Given the description of an element on the screen output the (x, y) to click on. 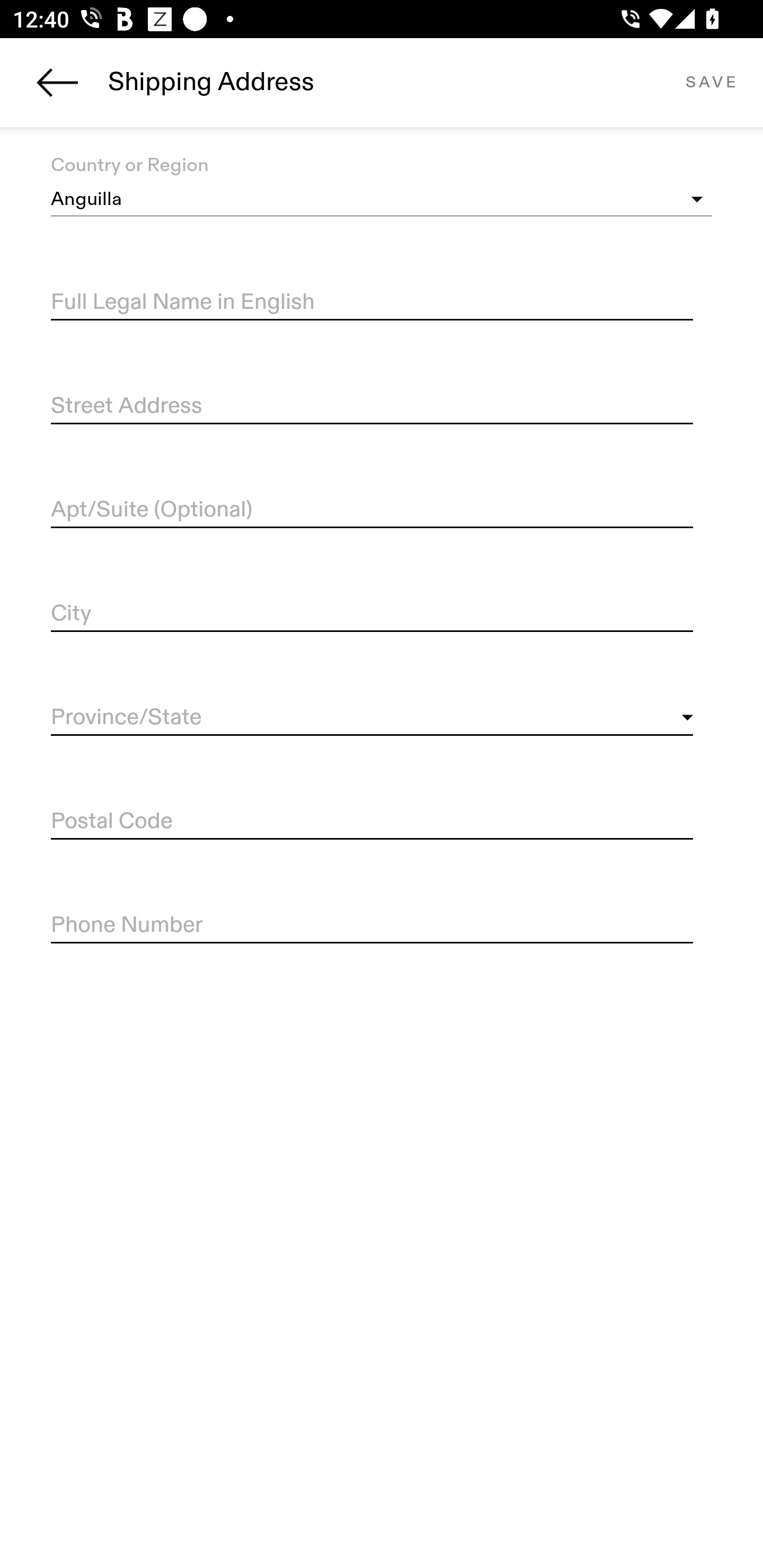
Navigate up (56, 82)
SAVE (710, 81)
Anguilla (381, 199)
Full Legal Name in English (371, 302)
Street Address (371, 406)
Apt/Suite (Optional) (371, 509)
City (371, 614)
Province/State (371, 717)
Postal Code (371, 821)
Phone Number (371, 925)
